Given the description of an element on the screen output the (x, y) to click on. 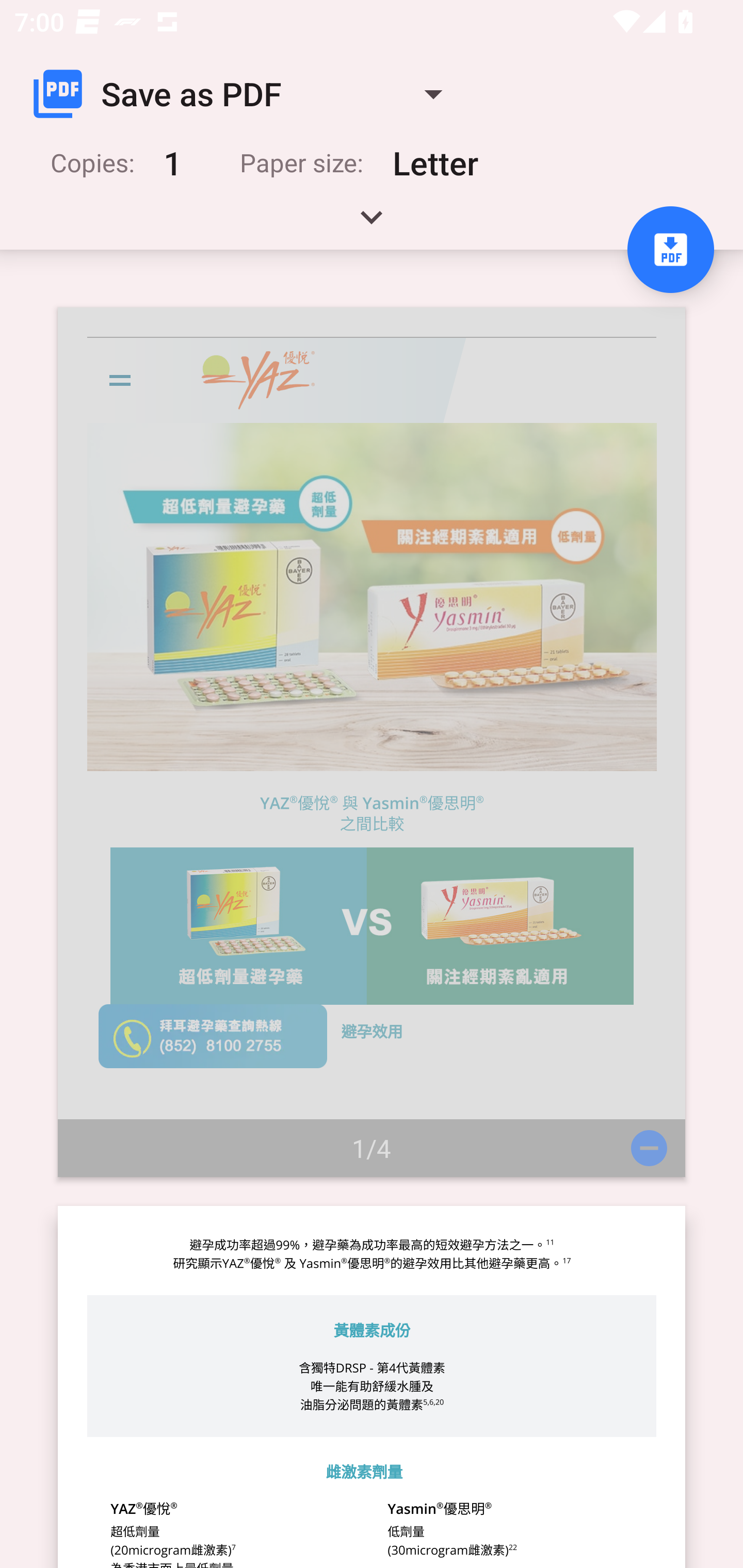
Save as PDF (245, 93)
Expand handle (371, 224)
Save to PDF (670, 249)
Page 1 of 4 1/4 (371, 742)
Page 2 of 4 (371, 1386)
